Given the description of an element on the screen output the (x, y) to click on. 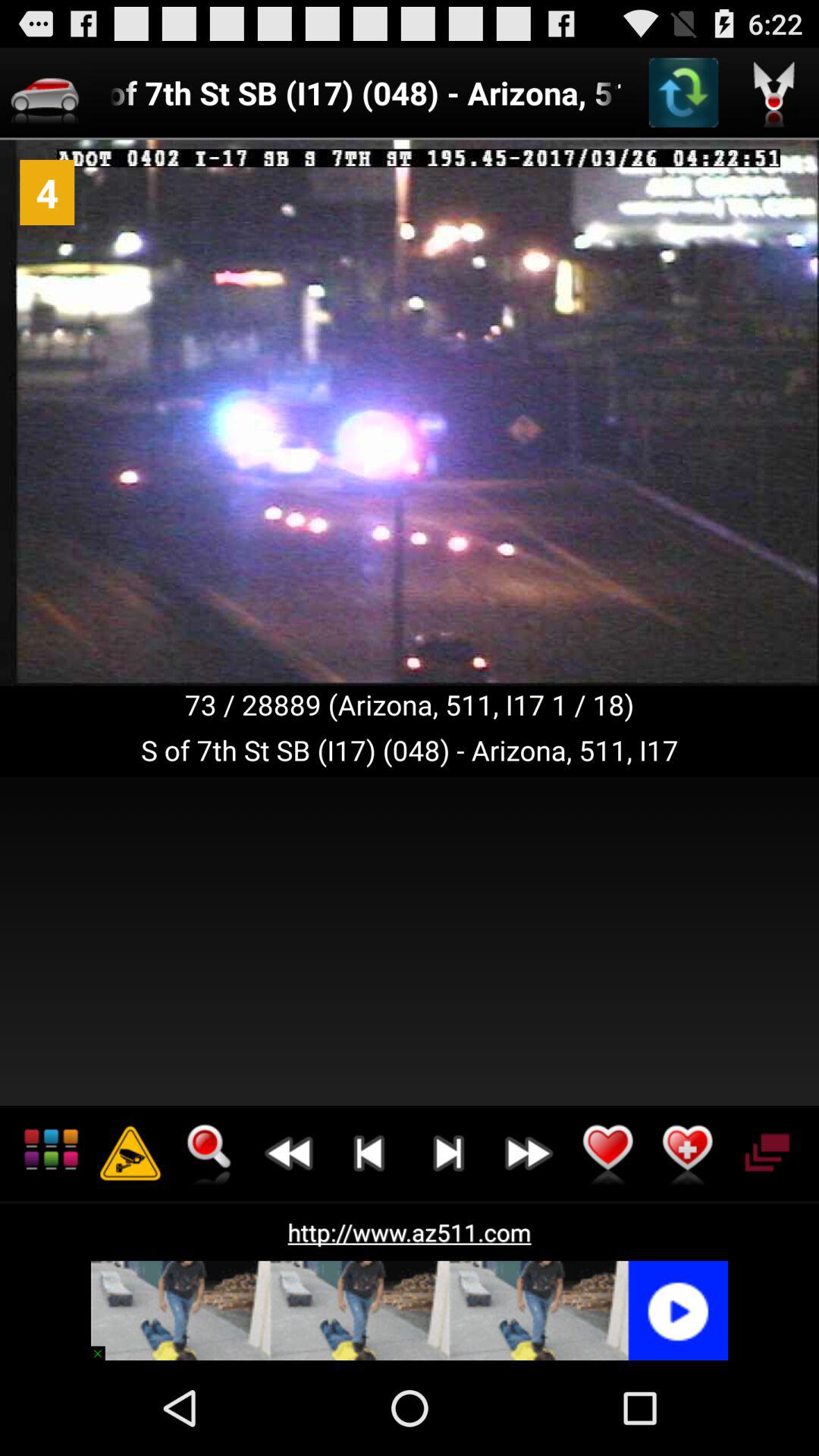
reload video (683, 92)
